Given the description of an element on the screen output the (x, y) to click on. 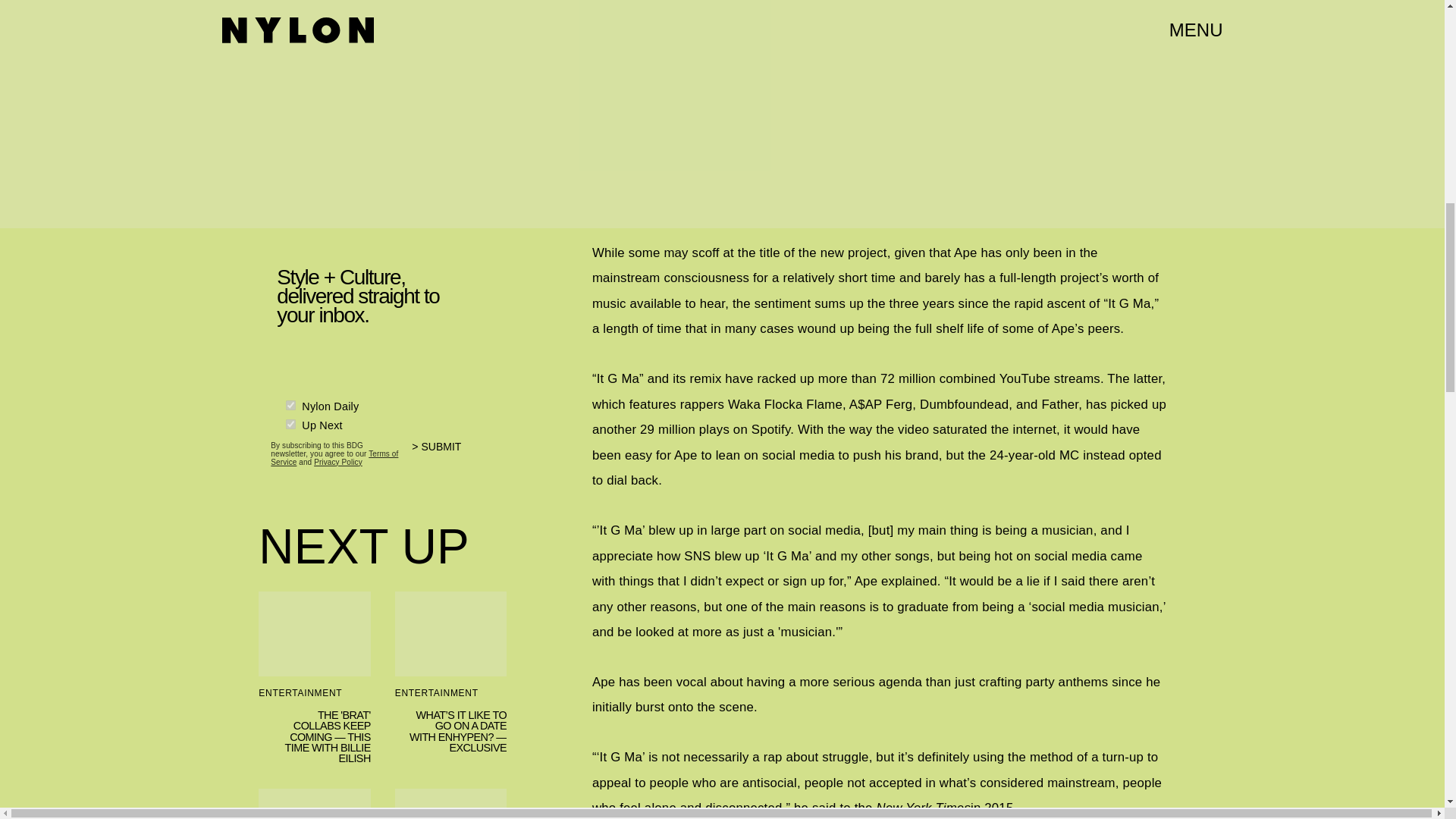
Terms of Service (333, 454)
SUBMIT (443, 450)
Privacy Policy (338, 460)
he said to the New York Times (882, 807)
